Given the description of an element on the screen output the (x, y) to click on. 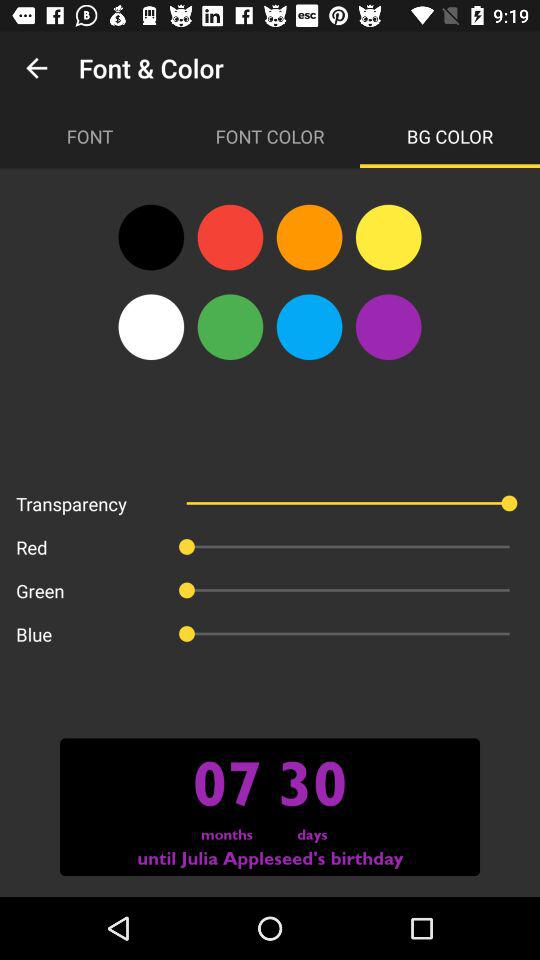
press icon above the font (36, 68)
